Given the description of an element on the screen output the (x, y) to click on. 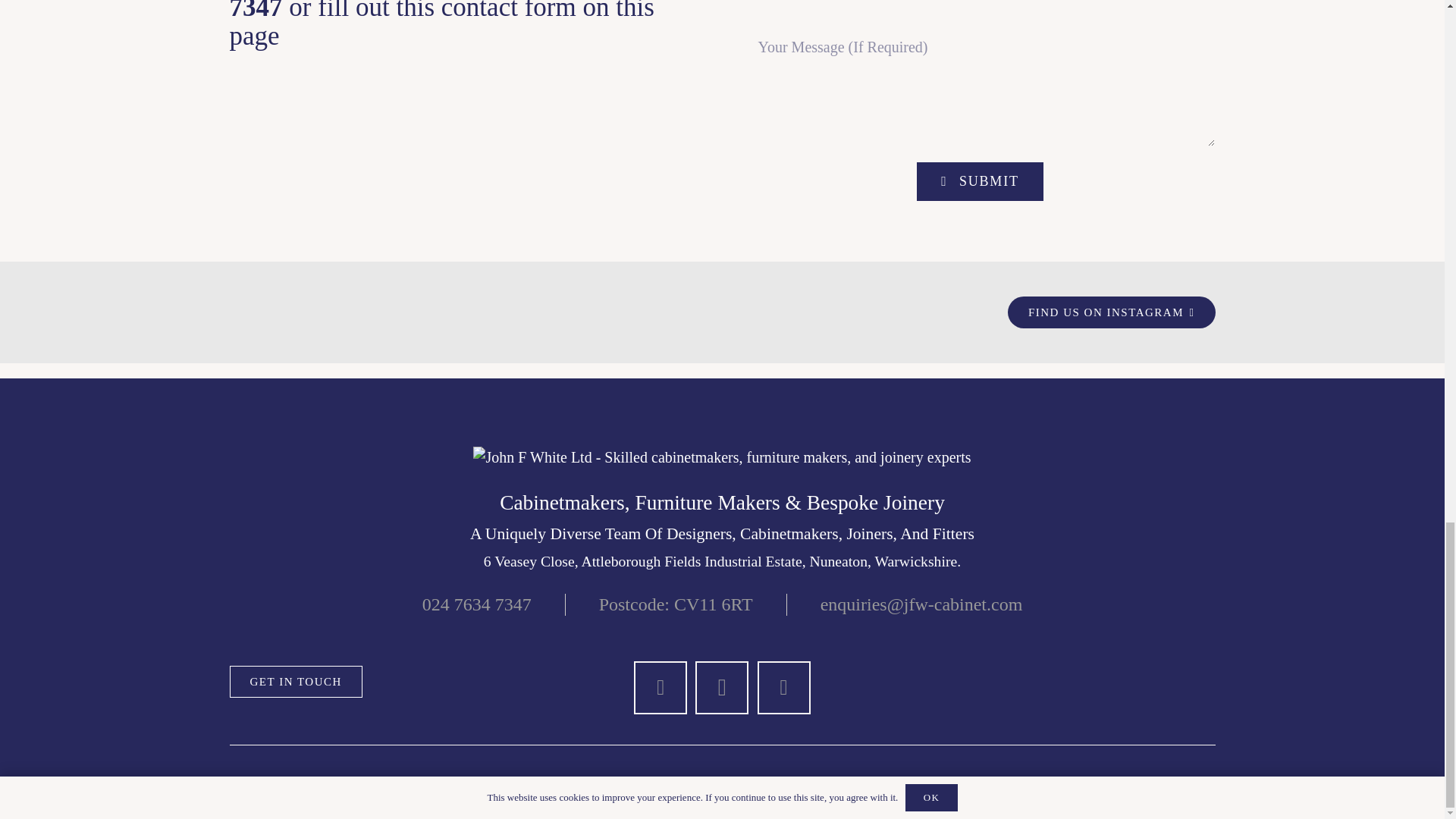
Instagram (721, 687)
Email (783, 687)
Facebook (660, 687)
